Given the description of an element on the screen output the (x, y) to click on. 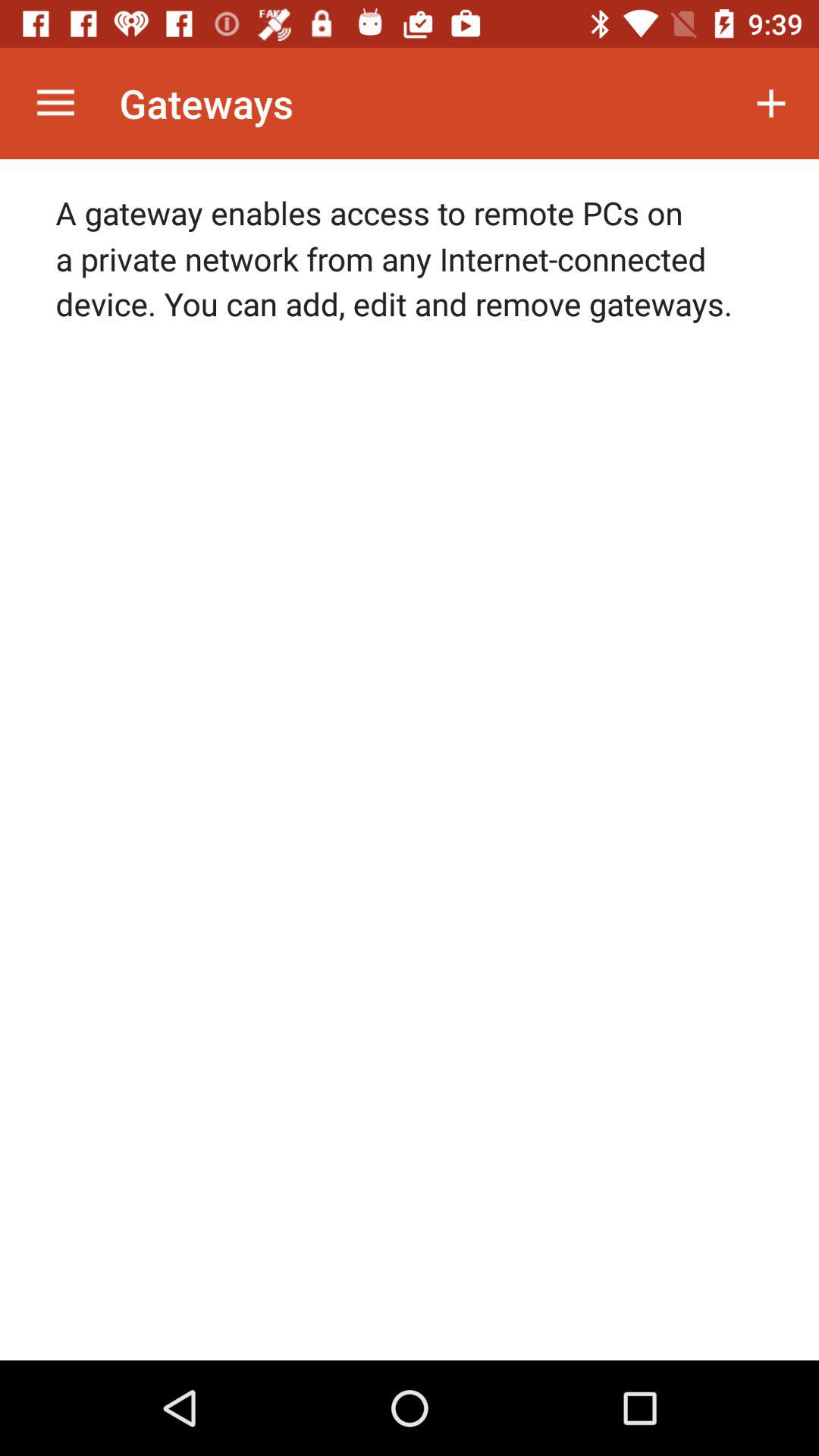
tap item next to gateways icon (55, 103)
